Given the description of an element on the screen output the (x, y) to click on. 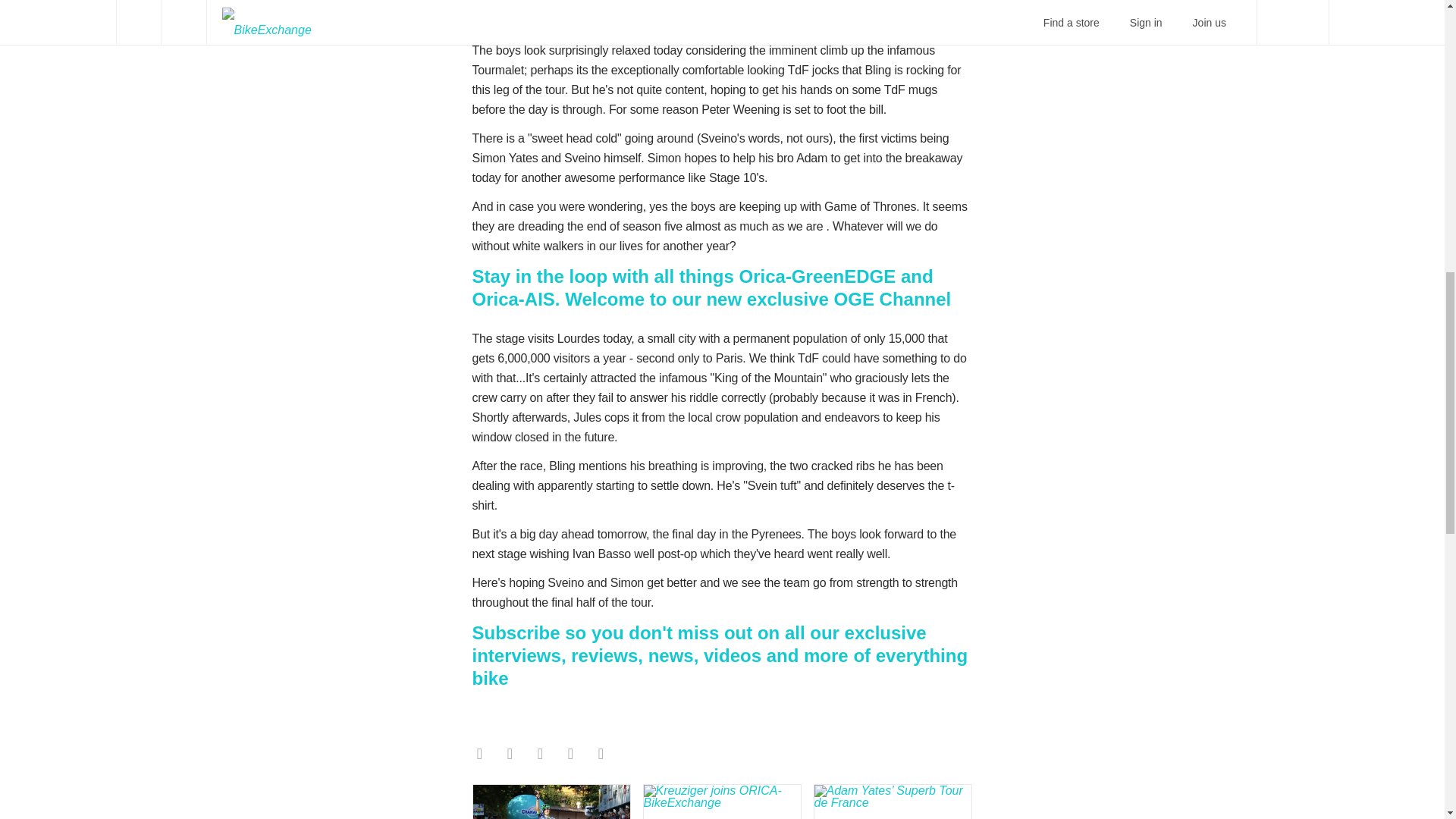
Share on Twitter (509, 753)
Share on facebook (479, 753)
Share on Pinterest (569, 753)
Share on Linked In (600, 753)
Email to Friend (539, 753)
